Given the description of an element on the screen output the (x, y) to click on. 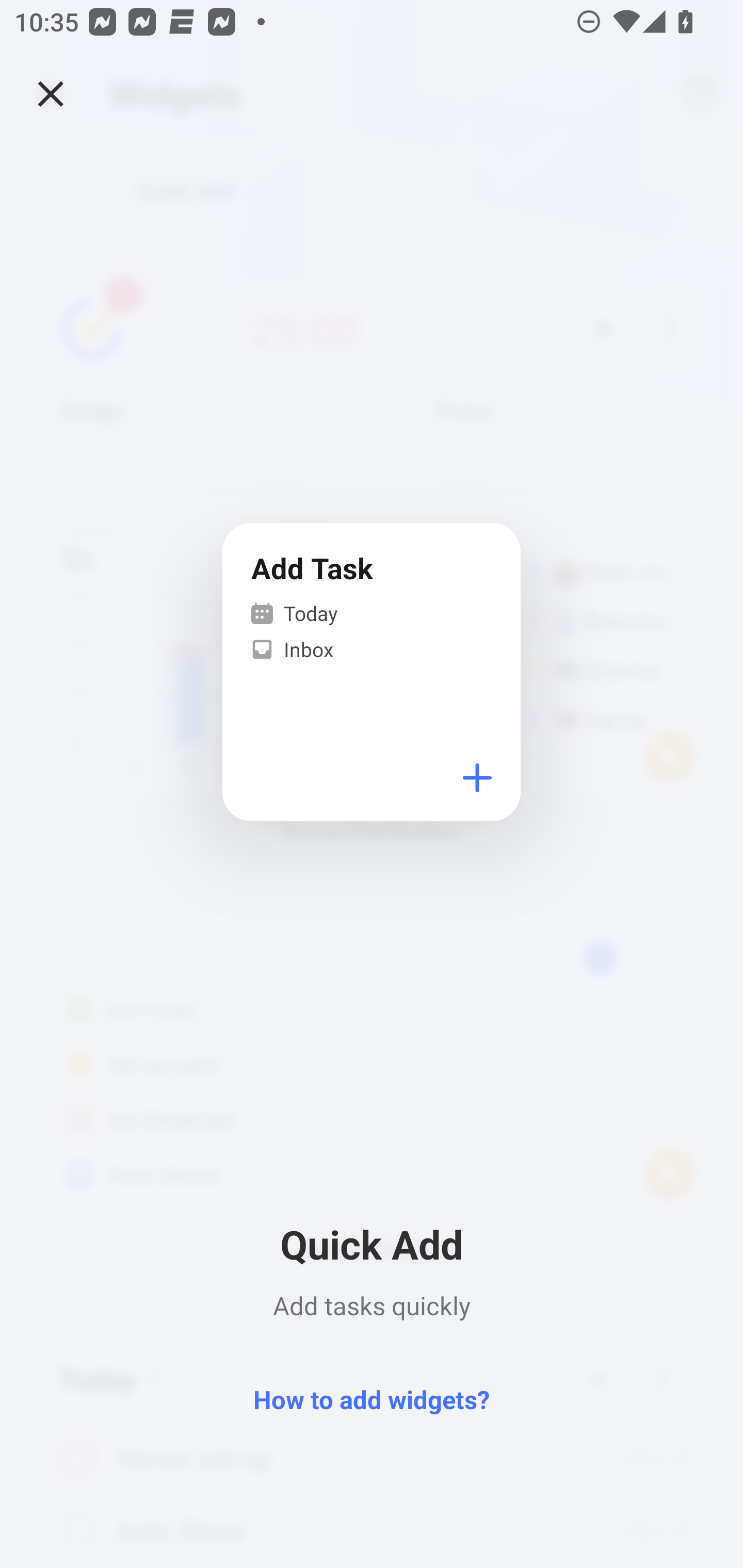
Add Task Today Inbox (371, 672)
How to add widgets? (371, 1398)
